Given the description of an element on the screen output the (x, y) to click on. 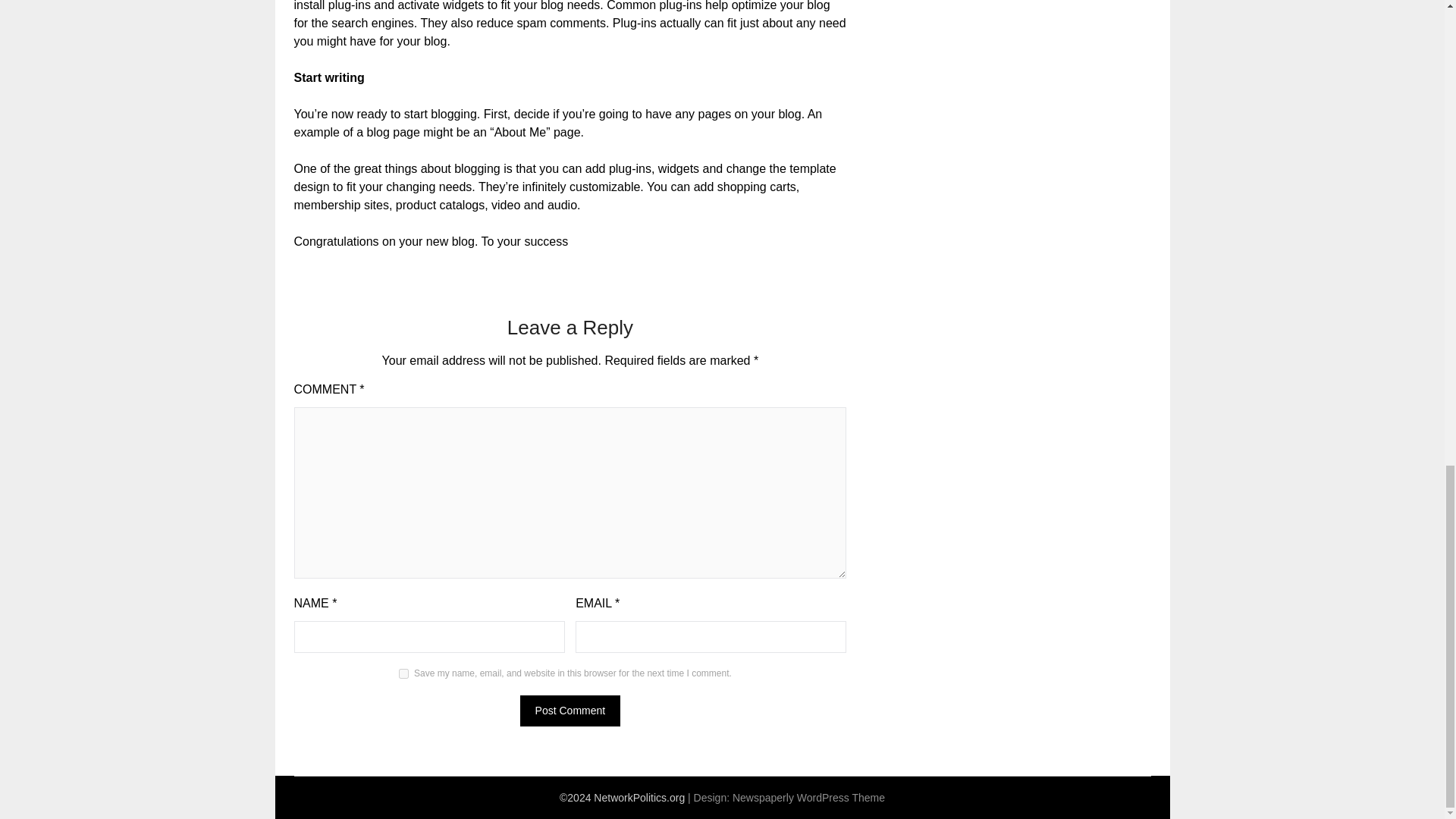
Newspaperly WordPress Theme (808, 797)
Post Comment (570, 710)
yes (403, 673)
Post Comment (570, 710)
